Given the description of an element on the screen output the (x, y) to click on. 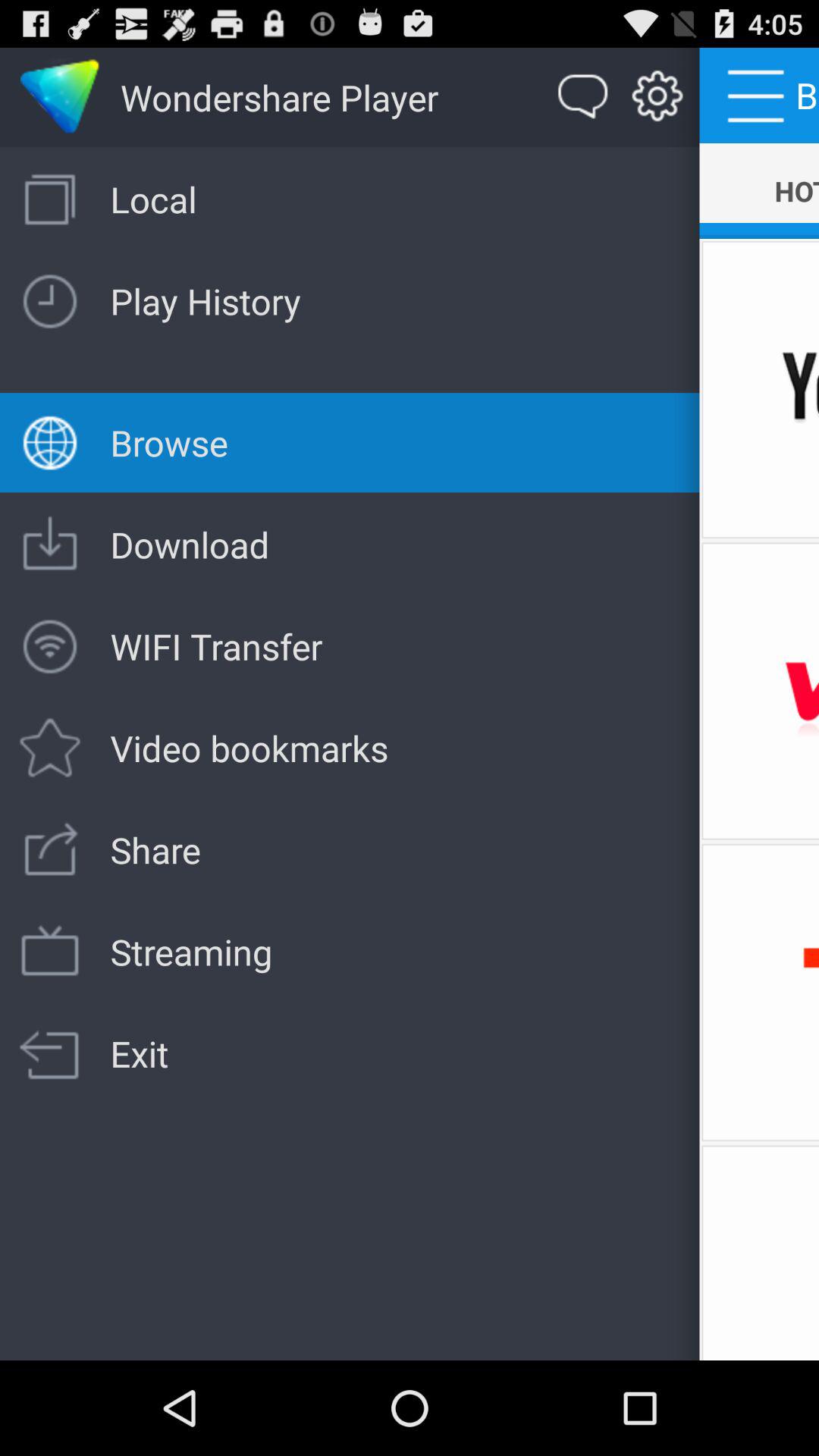
click the item to the right of local app (759, 190)
